Given the description of an element on the screen output the (x, y) to click on. 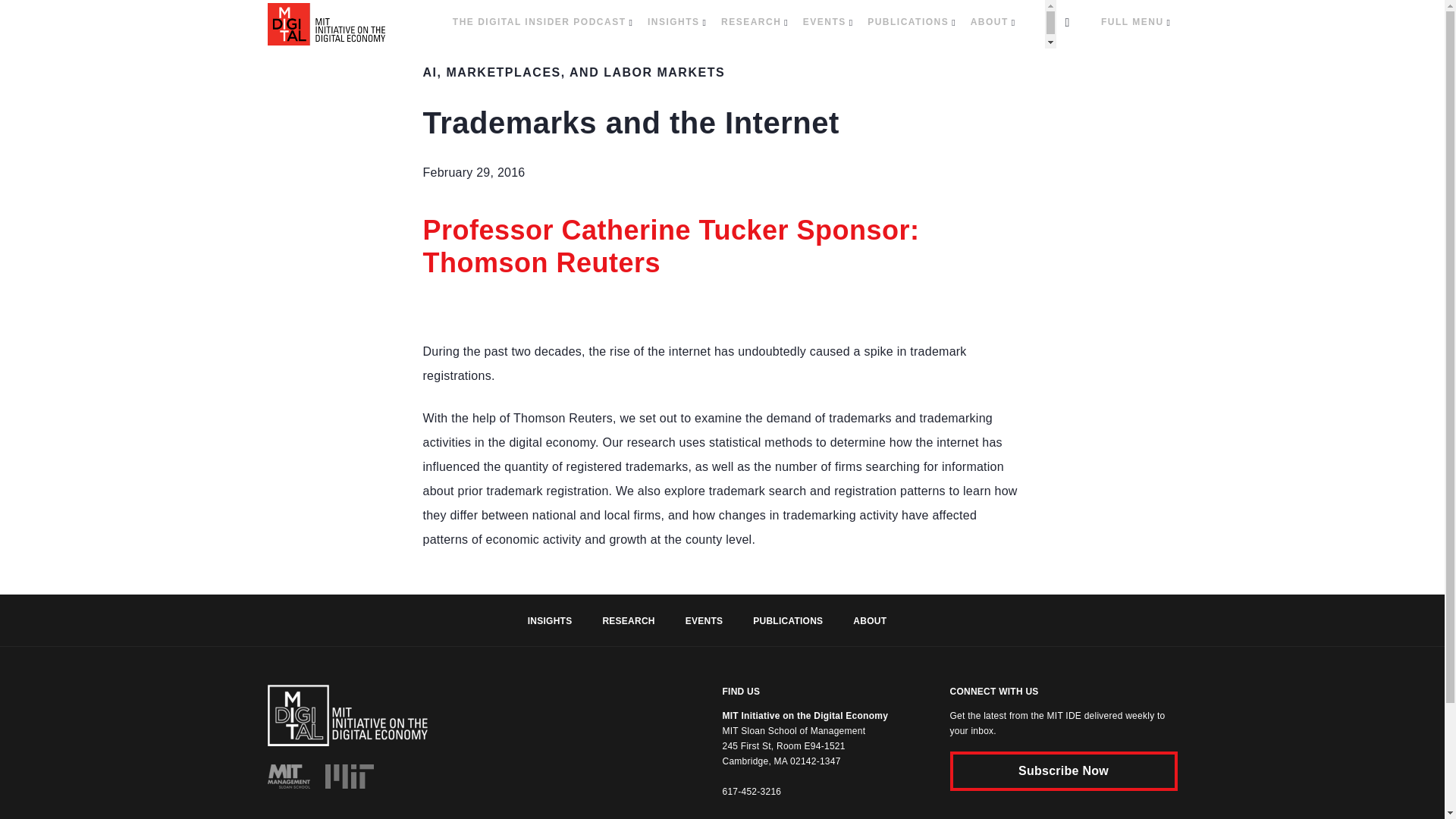
INSIGHTS (676, 22)
THE DIGITAL INSIDER PODCAST (541, 22)
RESEARCH (753, 22)
EVENTS (827, 22)
PUBLICATIONS (911, 22)
